Given the description of an element on the screen output the (x, y) to click on. 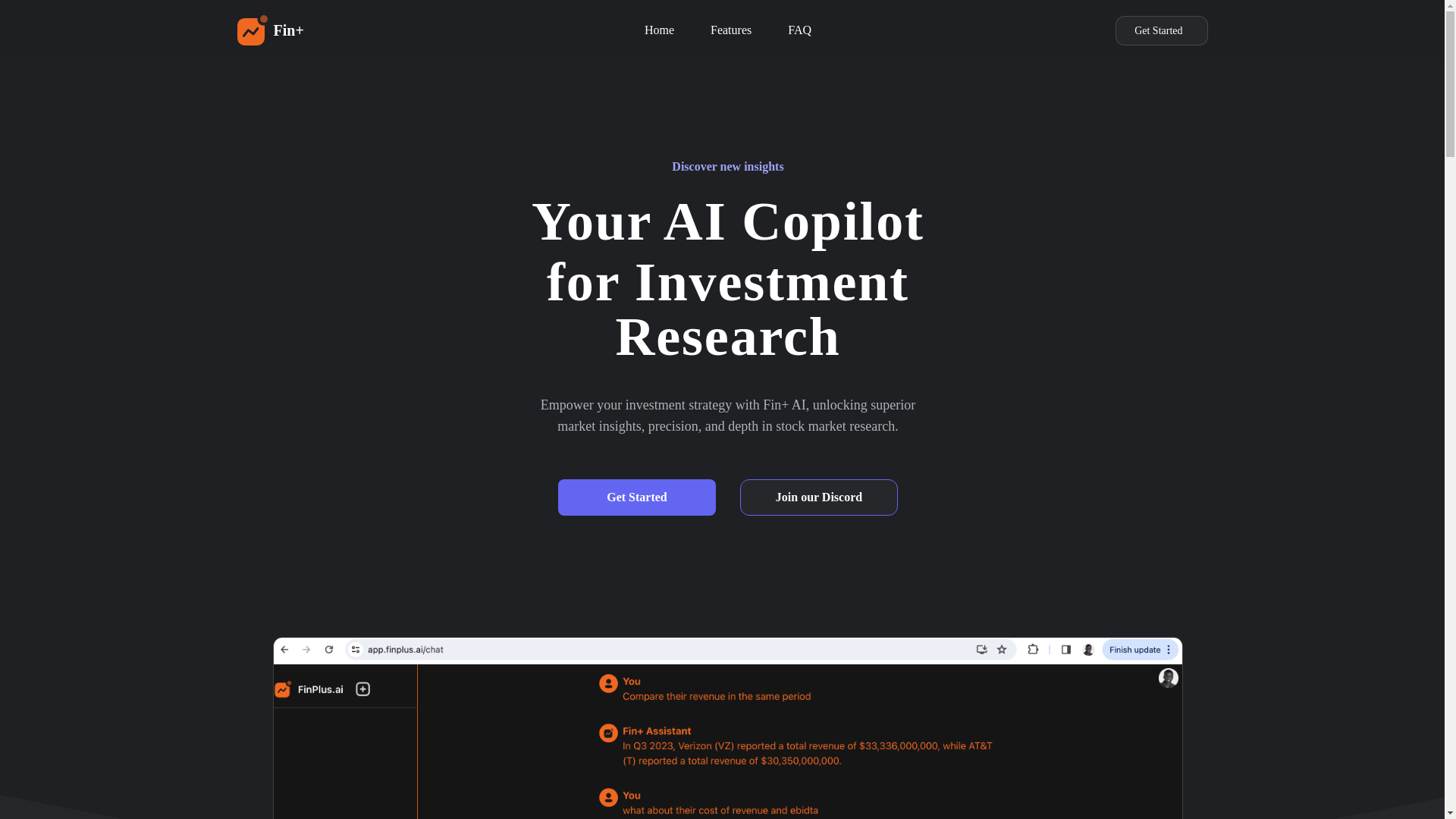
Home (659, 27)
FAQ (798, 27)
Join our Discord (818, 497)
Features (730, 27)
Get Started (1161, 30)
Get Started (636, 497)
